Given the description of an element on the screen output the (x, y) to click on. 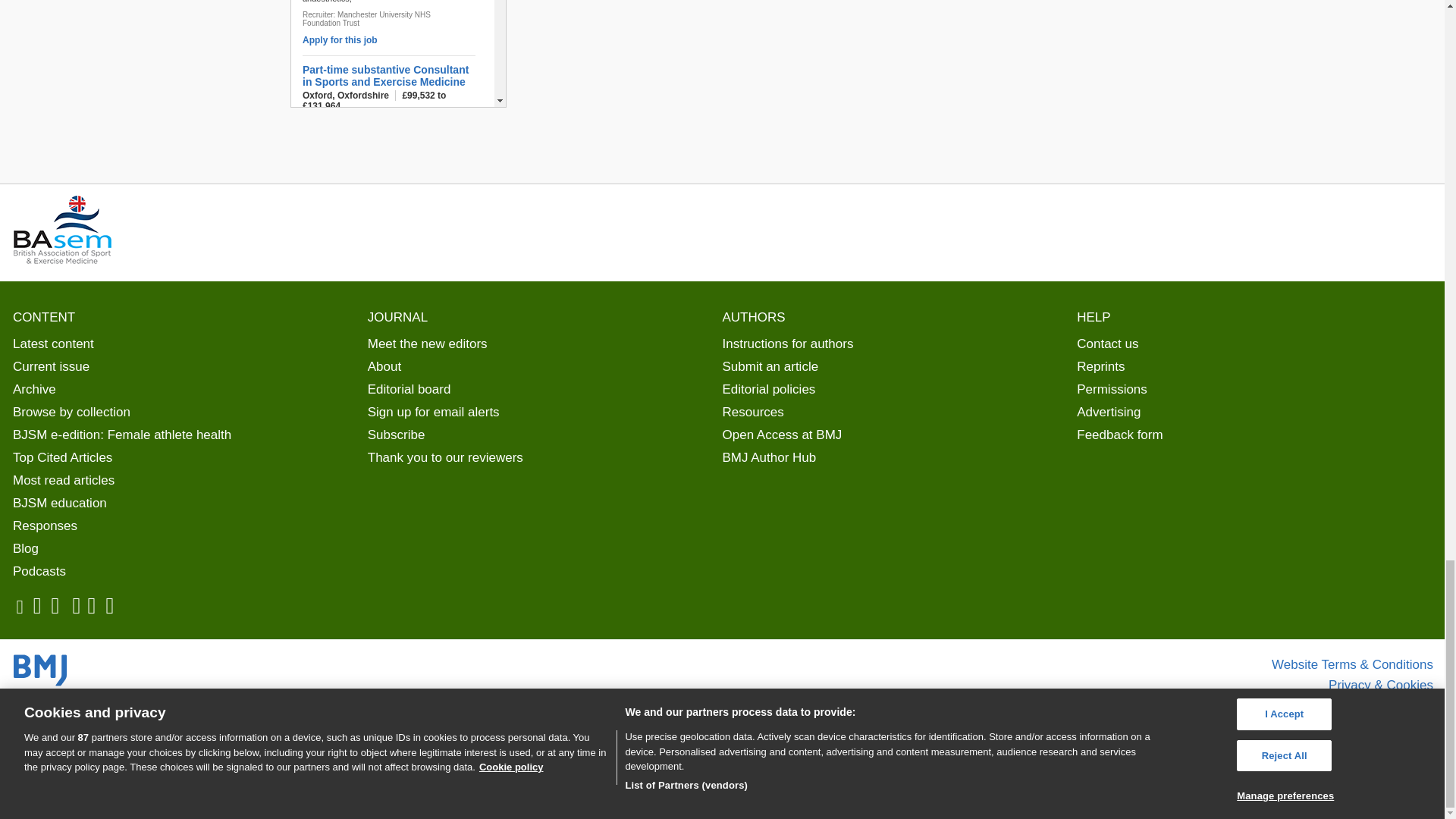
careers widget (397, 53)
